Given the description of an element on the screen output the (x, y) to click on. 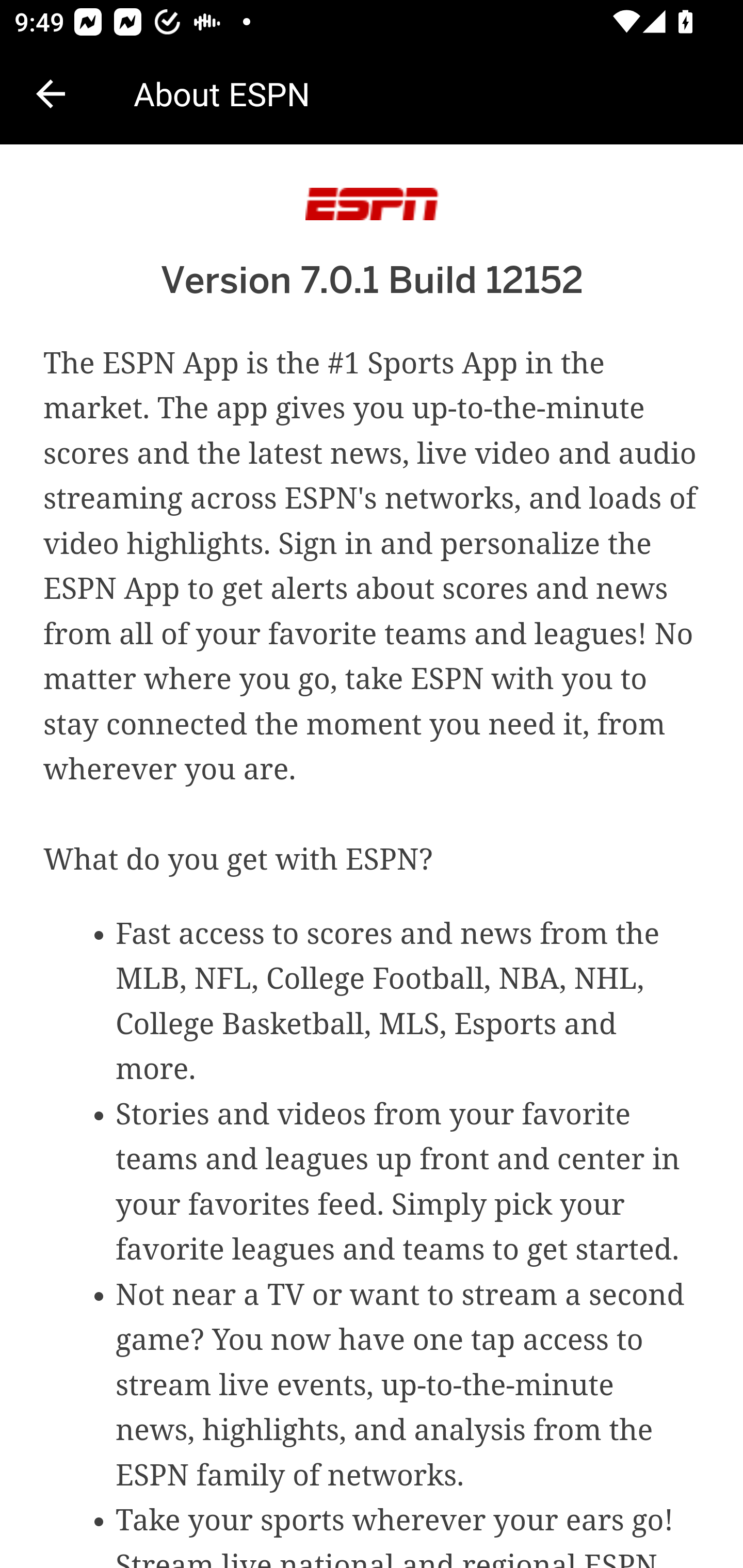
Navigate up (50, 93)
